Given the description of an element on the screen output the (x, y) to click on. 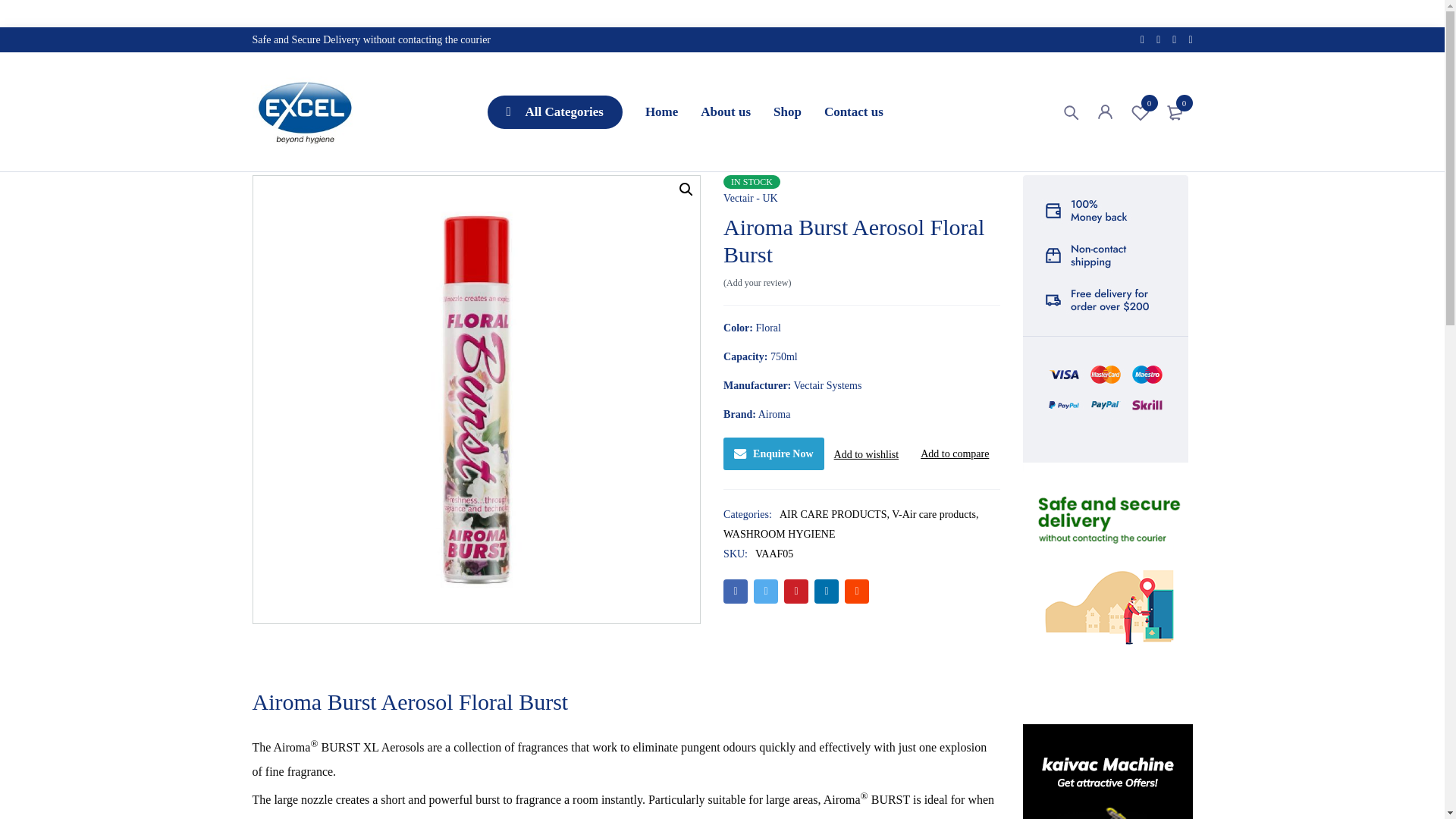
View your shopping cart (1174, 111)
0 (1139, 111)
Wishlist (1174, 111)
Excel (1139, 111)
All Categories (303, 111)
Vectair-Burst-Floral-750ml-800x800 (553, 111)
